Given the description of an element on the screen output the (x, y) to click on. 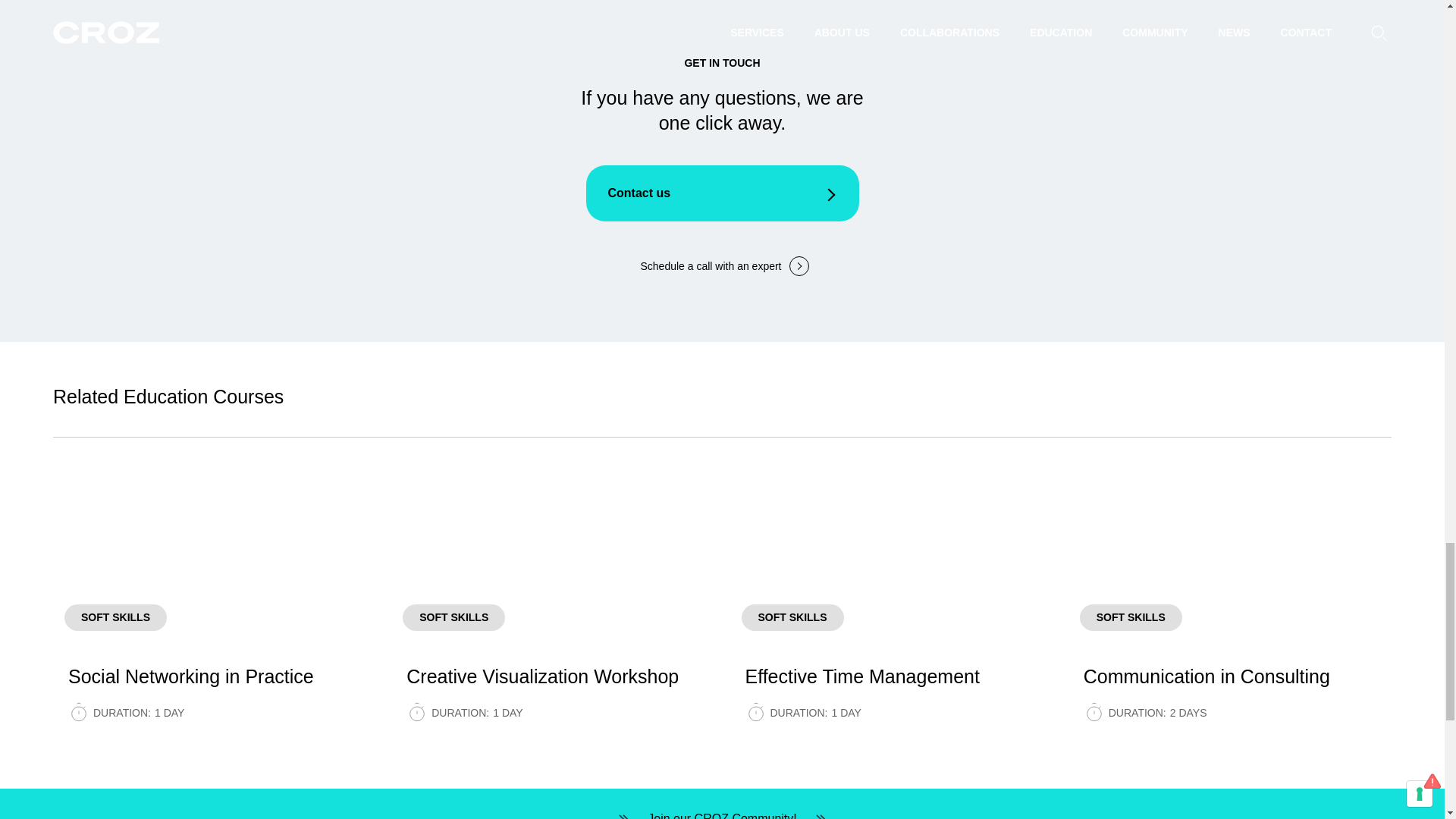
Schedule a call with an expert (721, 266)
Join our CROZ Community! (721, 815)
